Given the description of an element on the screen output the (x, y) to click on. 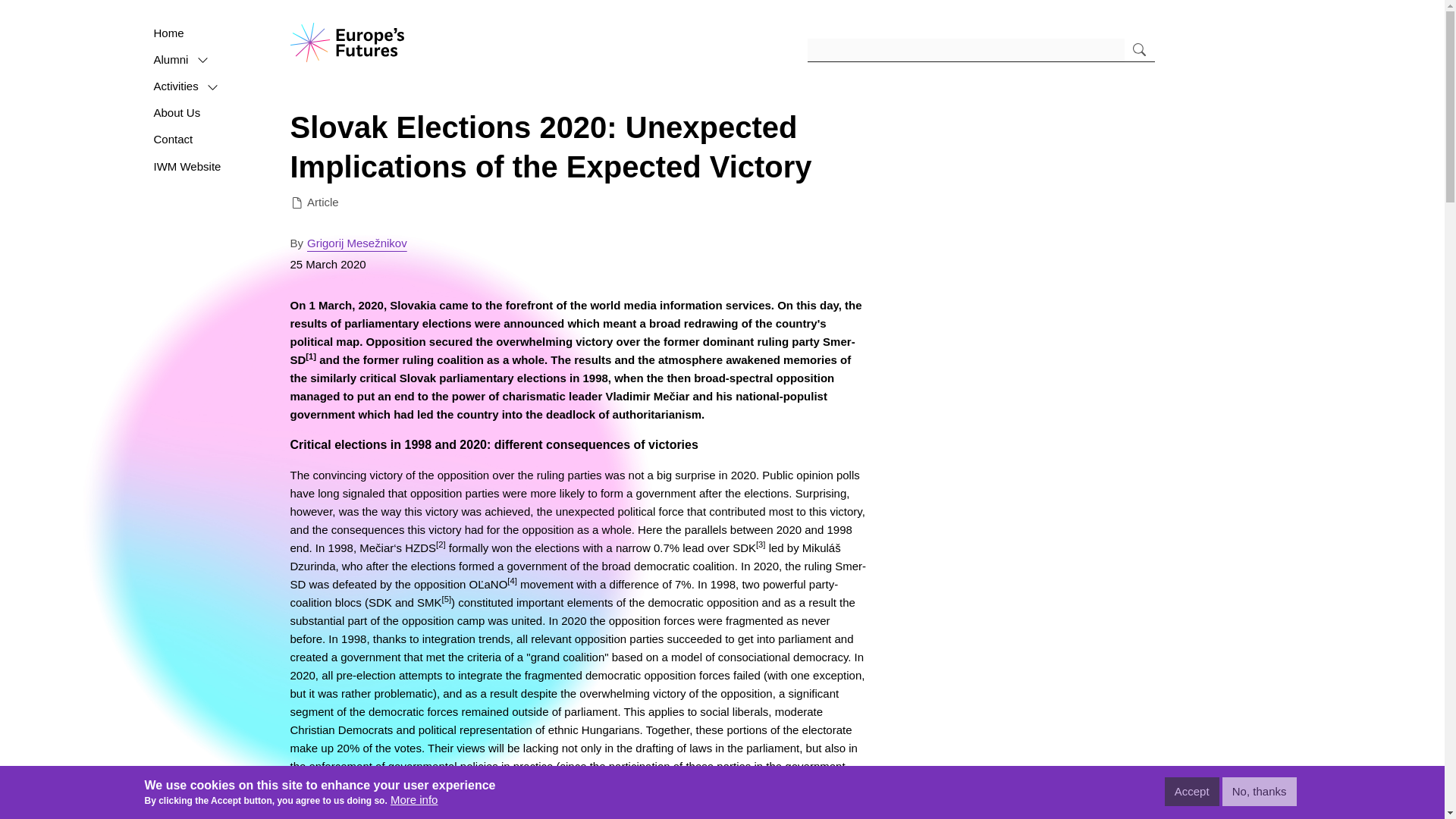
Alumni (172, 59)
Search (1139, 49)
Toggle (202, 60)
About Us (179, 113)
Activities (177, 86)
Home (346, 41)
Home (170, 32)
IWM Website (189, 166)
Contact (175, 139)
Toggle (212, 87)
Search (1139, 49)
Enter the terms you wish to search for. (966, 49)
